Given the description of an element on the screen output the (x, y) to click on. 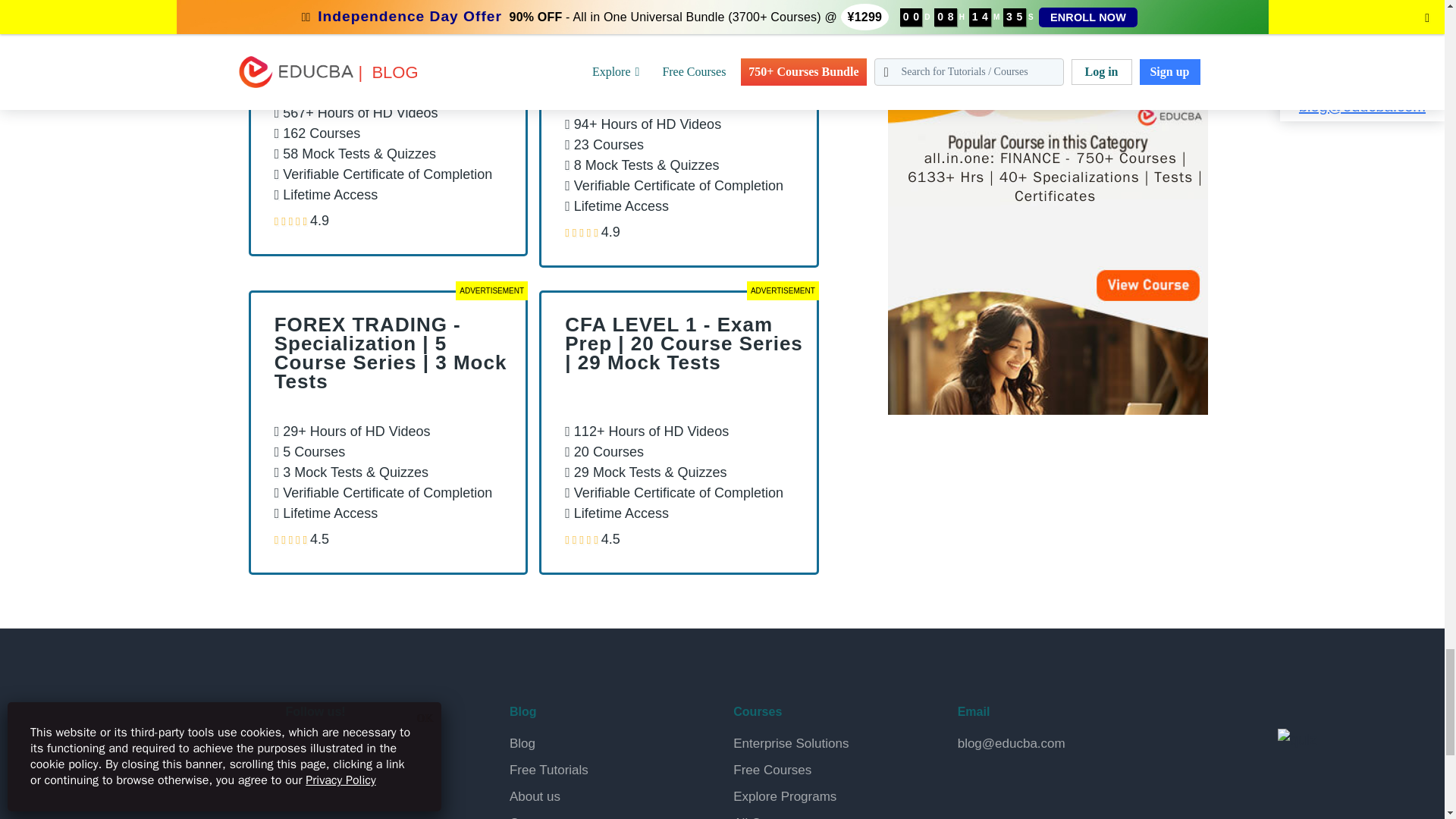
EDUCBA Youtube (300, 789)
EDUCBA Instagram (408, 752)
EDUCBA Udemy (371, 789)
EDUCBA Coursera (336, 789)
EDUCBA Twitter (336, 752)
EDUCBA Facebook (300, 752)
EDUCBA LinkedIN (371, 752)
